Given the description of an element on the screen output the (x, y) to click on. 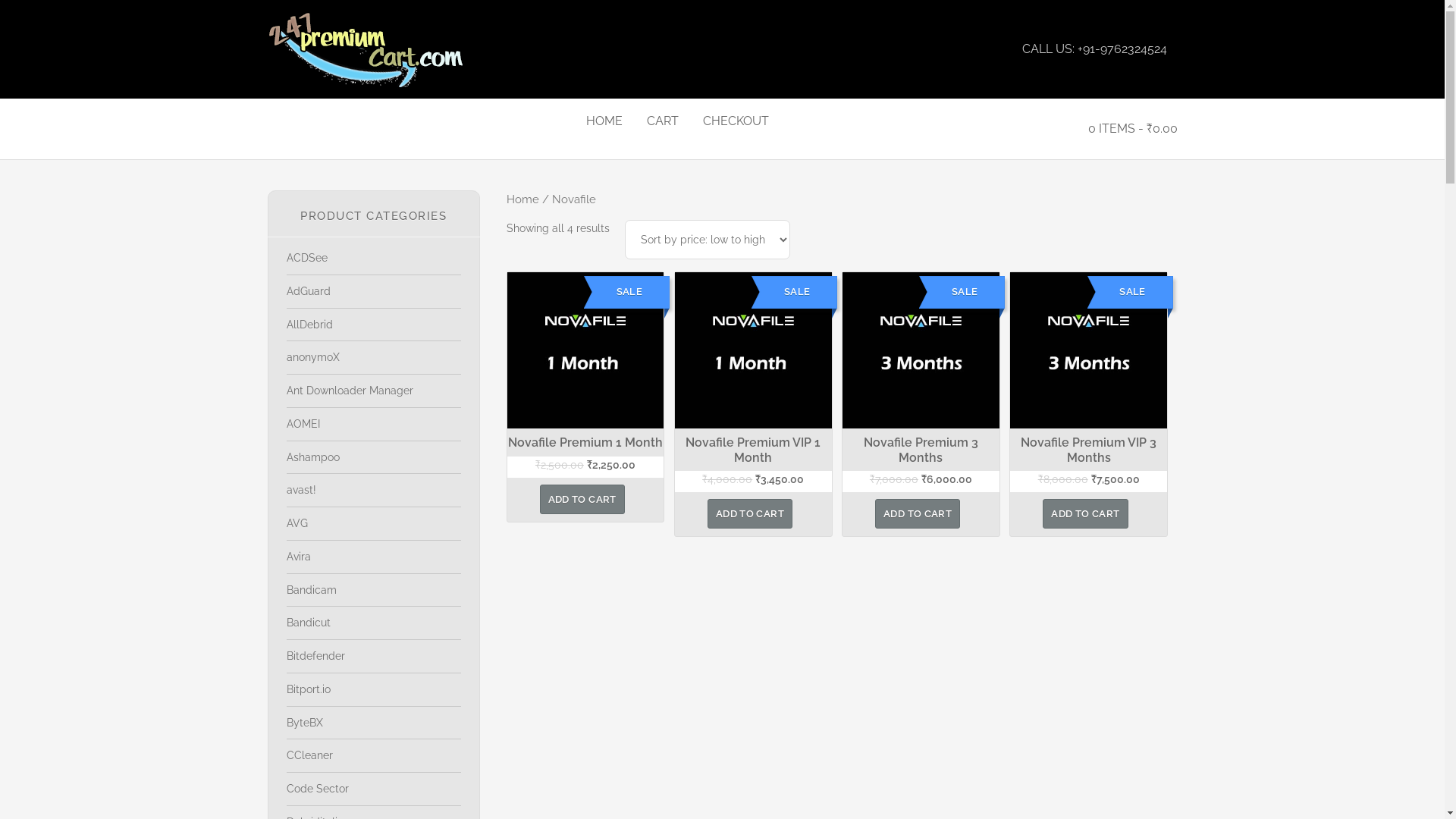
Ashampoo Element type: text (312, 456)
ADD TO CART Element type: text (749, 513)
AOMEI Element type: text (303, 423)
AVG Element type: text (296, 523)
247premiumcart.com Element type: text (402, 49)
Home Element type: text (522, 198)
CART Element type: text (662, 121)
ByteBX Element type: text (304, 721)
anonymoX Element type: text (312, 357)
ADD TO CART Element type: text (917, 513)
AllDebrid Element type: text (309, 324)
avast! Element type: text (301, 489)
CCleaner Element type: text (309, 755)
Bitport.io Element type: text (308, 689)
CALL US: +91-9762324524 Element type: text (1094, 49)
CHECKOUT Element type: text (735, 121)
Bandicut Element type: text (308, 622)
AdGuard Element type: text (308, 291)
Bitdefender Element type: text (315, 655)
HOME Element type: text (604, 121)
ADD TO CART Element type: text (1084, 513)
Bandicam Element type: text (311, 589)
Code Sector Element type: text (317, 788)
ADD TO CART Element type: text (581, 499)
ACDSee Element type: text (306, 257)
Ant Downloader Manager Element type: text (349, 390)
Avira Element type: text (298, 556)
